Given the description of an element on the screen output the (x, y) to click on. 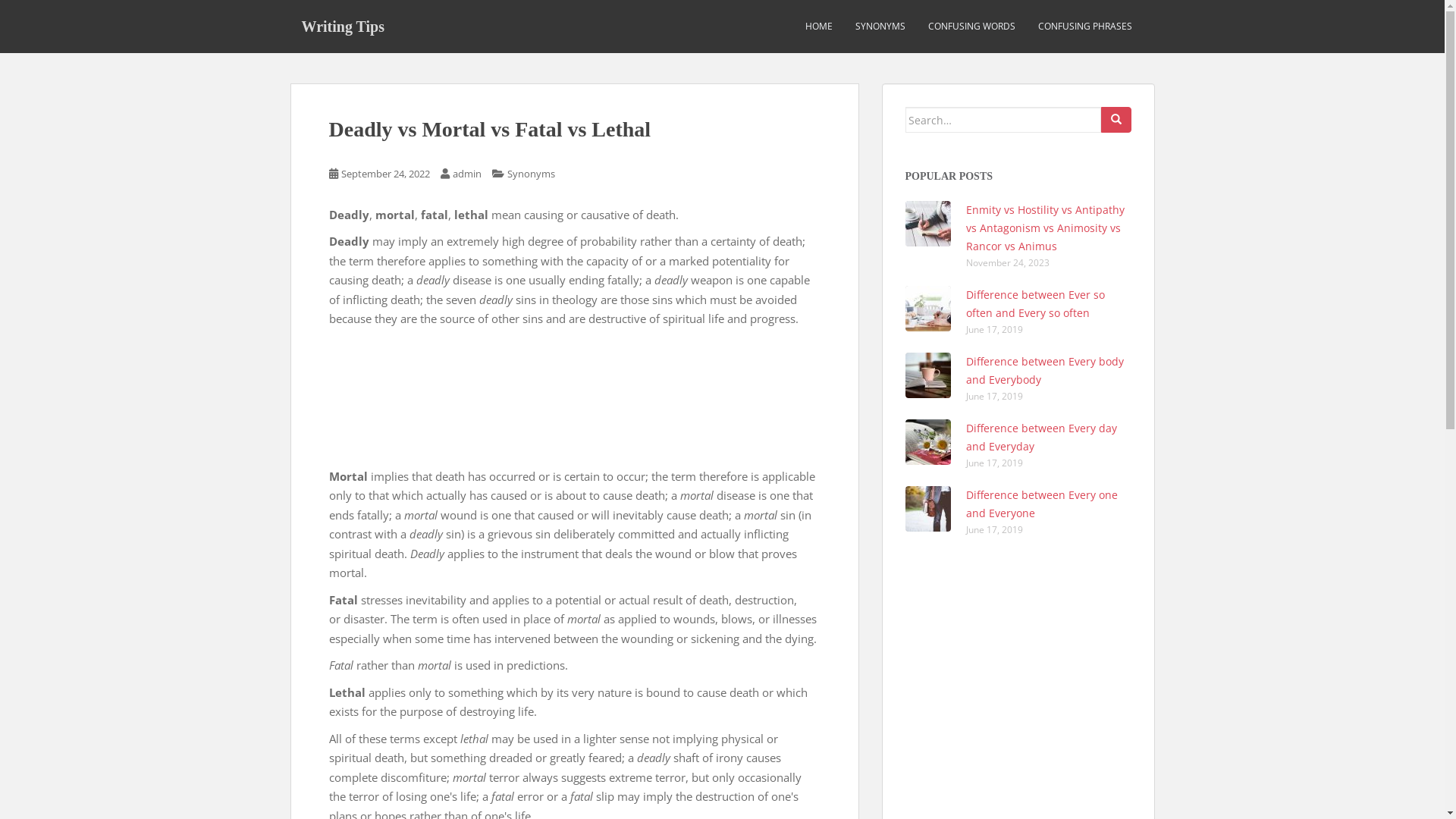
HOME Element type: text (818, 26)
Writing Tips Element type: text (342, 26)
Advertisement Element type: hover (574, 397)
Difference between Every day and Everyday Element type: text (1041, 436)
Synonyms Element type: text (530, 173)
CONFUSING PHRASES Element type: text (1084, 26)
admin Element type: text (465, 173)
Difference between Ever so often and Every so often Element type: text (1035, 303)
Search for: Element type: hover (1003, 119)
CONFUSING WORDS Element type: text (971, 26)
September 24, 2022 Element type: text (385, 173)
SYNONYMS Element type: text (880, 26)
Search Element type: text (1116, 119)
Difference between Every one and Everyone Element type: text (1041, 503)
Difference between Every body and Everybody Element type: text (1044, 370)
